Given the description of an element on the screen output the (x, y) to click on. 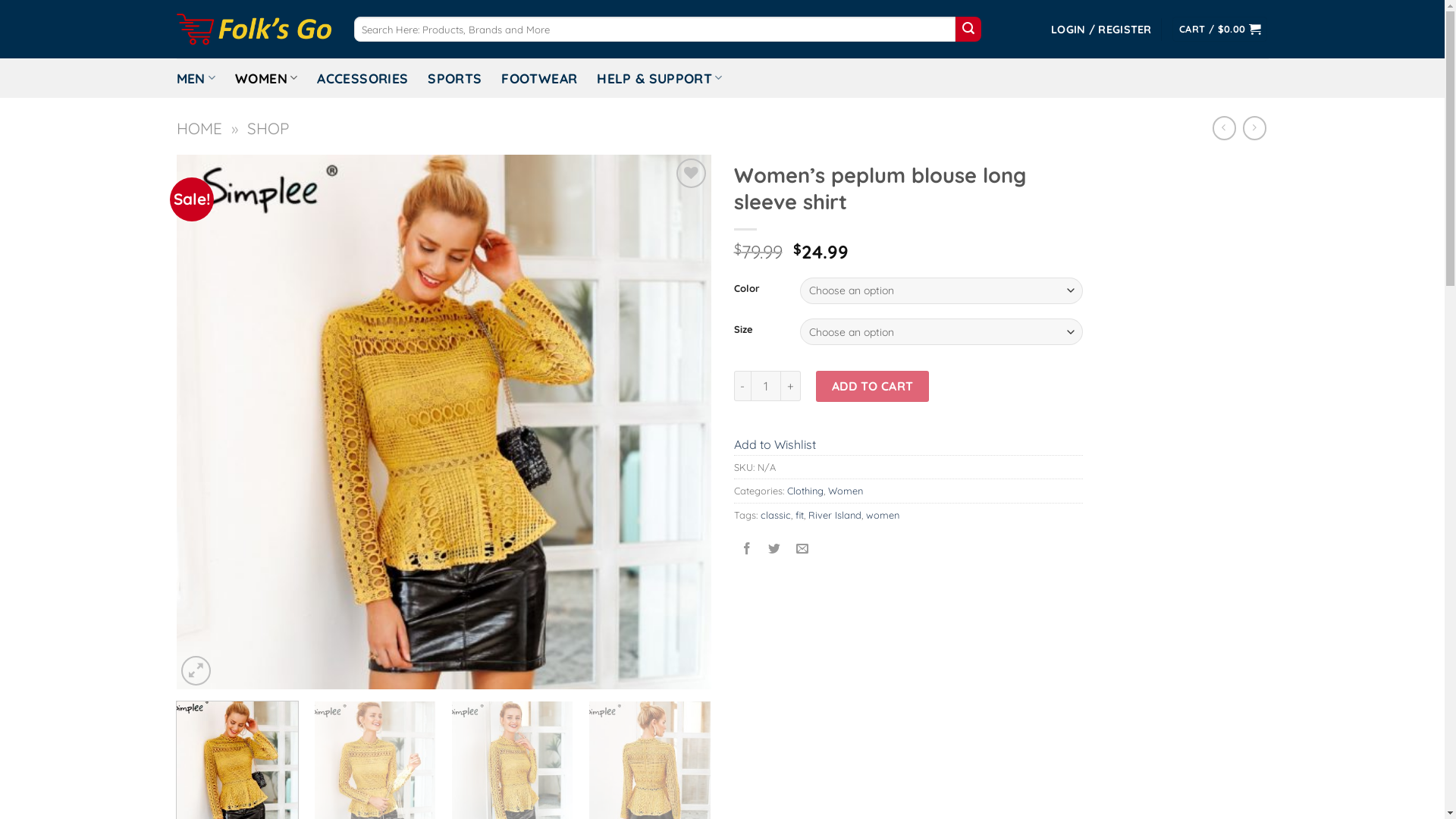
Email to a Friend Element type: hover (801, 548)
ADD TO CART Element type: text (871, 385)
MEN Element type: text (195, 77)
LOGIN / REGISTER Element type: text (1101, 28)
Search Element type: text (968, 29)
Qty Element type: hover (765, 385)
classic Element type: text (774, 514)
Women Element type: text (845, 490)
Add to Wishlist Element type: text (774, 443)
River Island Element type: text (834, 514)
SHOP Element type: text (267, 128)
WOMEN Element type: text (266, 77)
Share on Facebook Element type: hover (746, 548)
Share on Twitter Element type: hover (774, 548)
ACCESSORIES Element type: text (361, 77)
women Element type: text (882, 514)
Zoom Element type: hover (195, 670)
HELP & SUPPORT Element type: text (658, 77)
HOME Element type: text (198, 128)
FOOTWEAR Element type: text (539, 77)
CART / $0.00 Element type: text (1219, 28)
Clothing Element type: text (805, 490)
fit Element type: text (798, 514)
SPORTS Element type: text (454, 77)
